Given the description of an element on the screen output the (x, y) to click on. 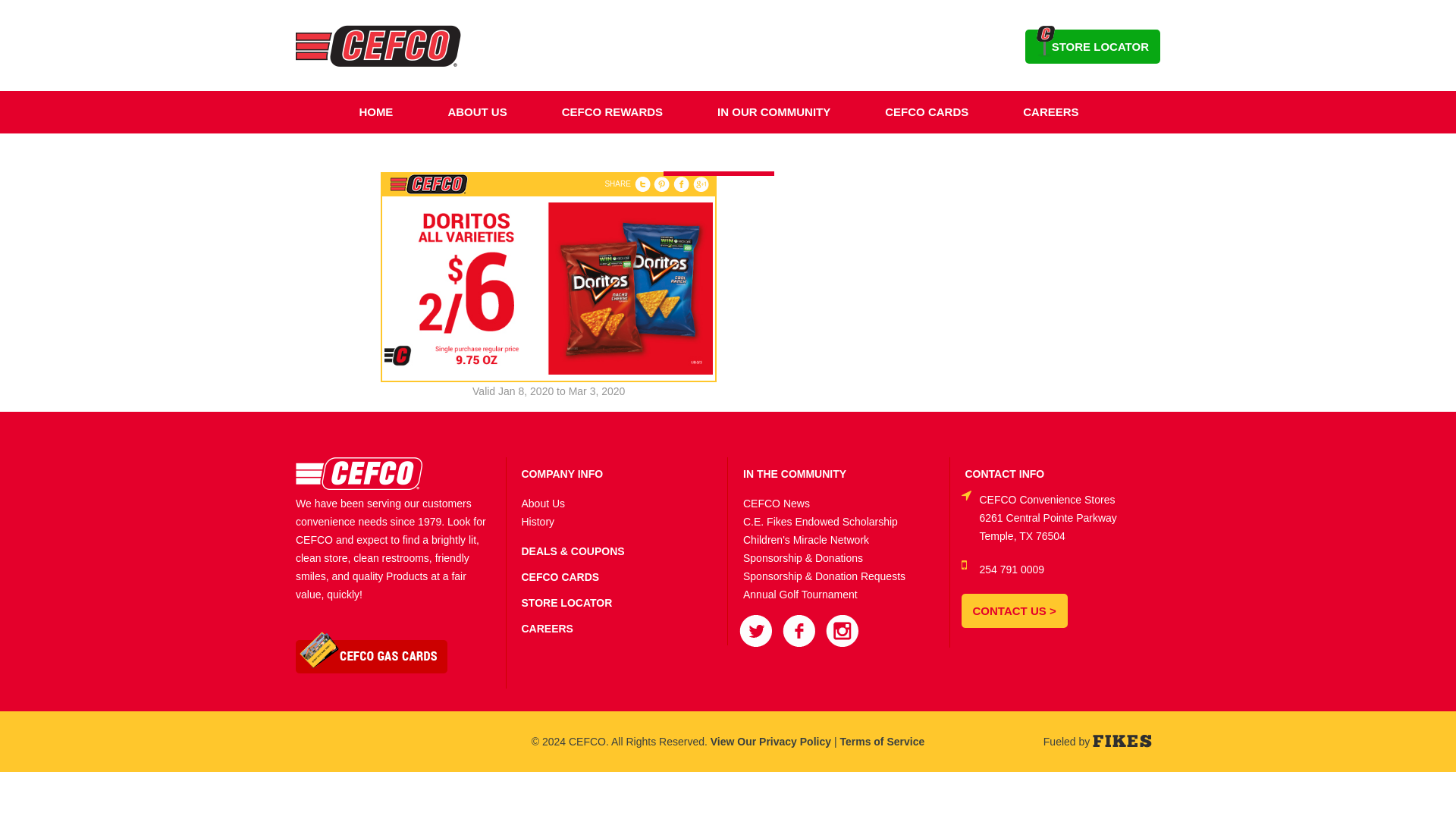
About Us (543, 503)
CEFCO News (775, 503)
C.E. Fikes Endowed Scholarship (820, 521)
CONTACT US (718, 154)
HOME (375, 111)
ABOUT US (476, 111)
CAREERS (1050, 111)
COMPANY INFO (562, 473)
Children's Miracle Network (805, 539)
IN THE COMMUNITY (793, 473)
CEFCO CARDS (926, 111)
CEFCO CARDS (560, 576)
